Given the description of an element on the screen output the (x, y) to click on. 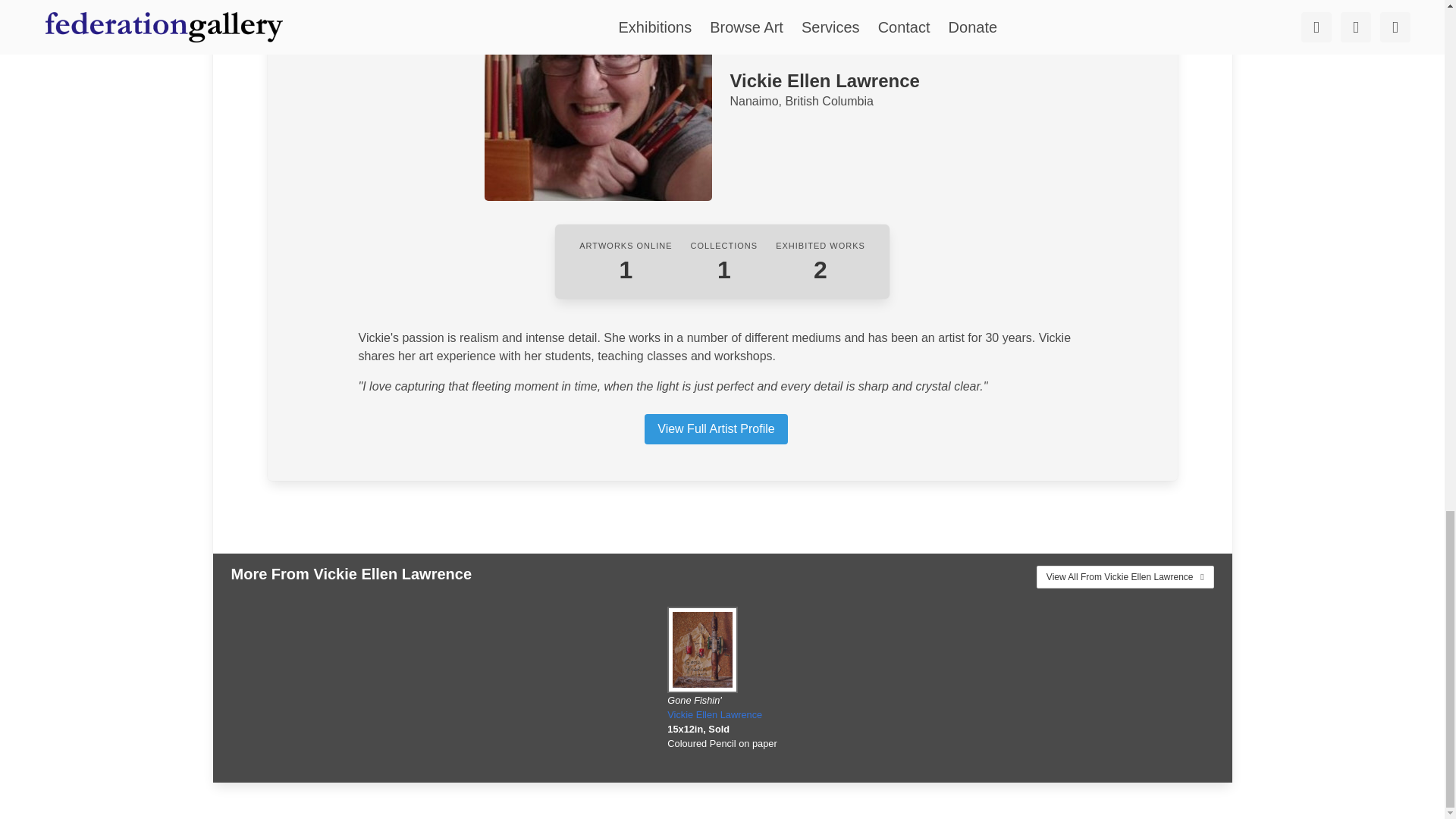
Vickie Ellen Lawrence (713, 714)
View Full Artist Profile (716, 429)
View All From Vickie Ellen Lawrence (1125, 576)
